Given the description of an element on the screen output the (x, y) to click on. 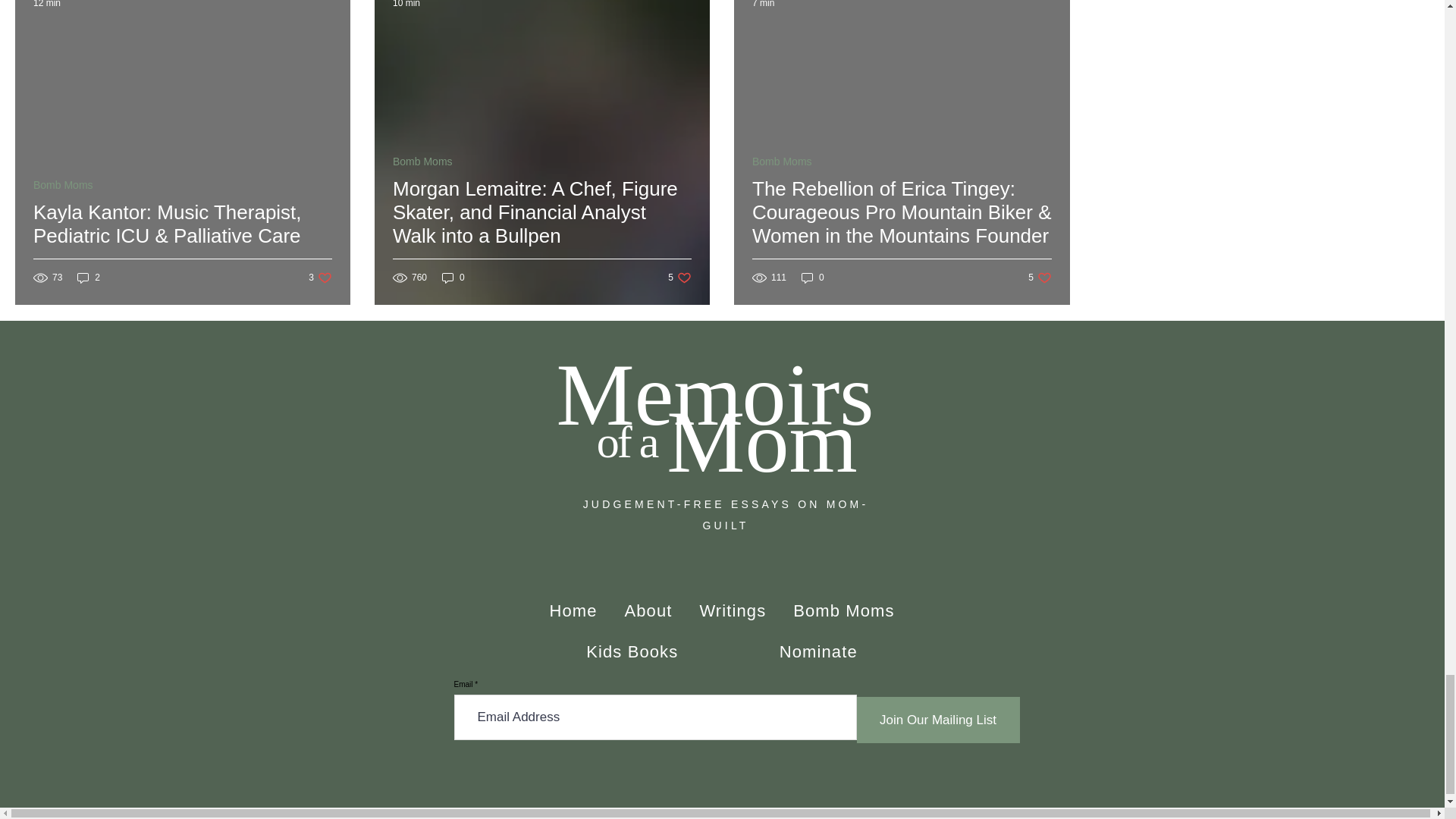
Writings (732, 610)
of a (627, 441)
0 (1039, 278)
Home (453, 278)
Join Our Mailing List (572, 610)
10 min (319, 278)
2 (938, 719)
12 min (406, 4)
About (88, 278)
Memoirs  (47, 4)
7 min (679, 278)
